Given the description of an element on the screen output the (x, y) to click on. 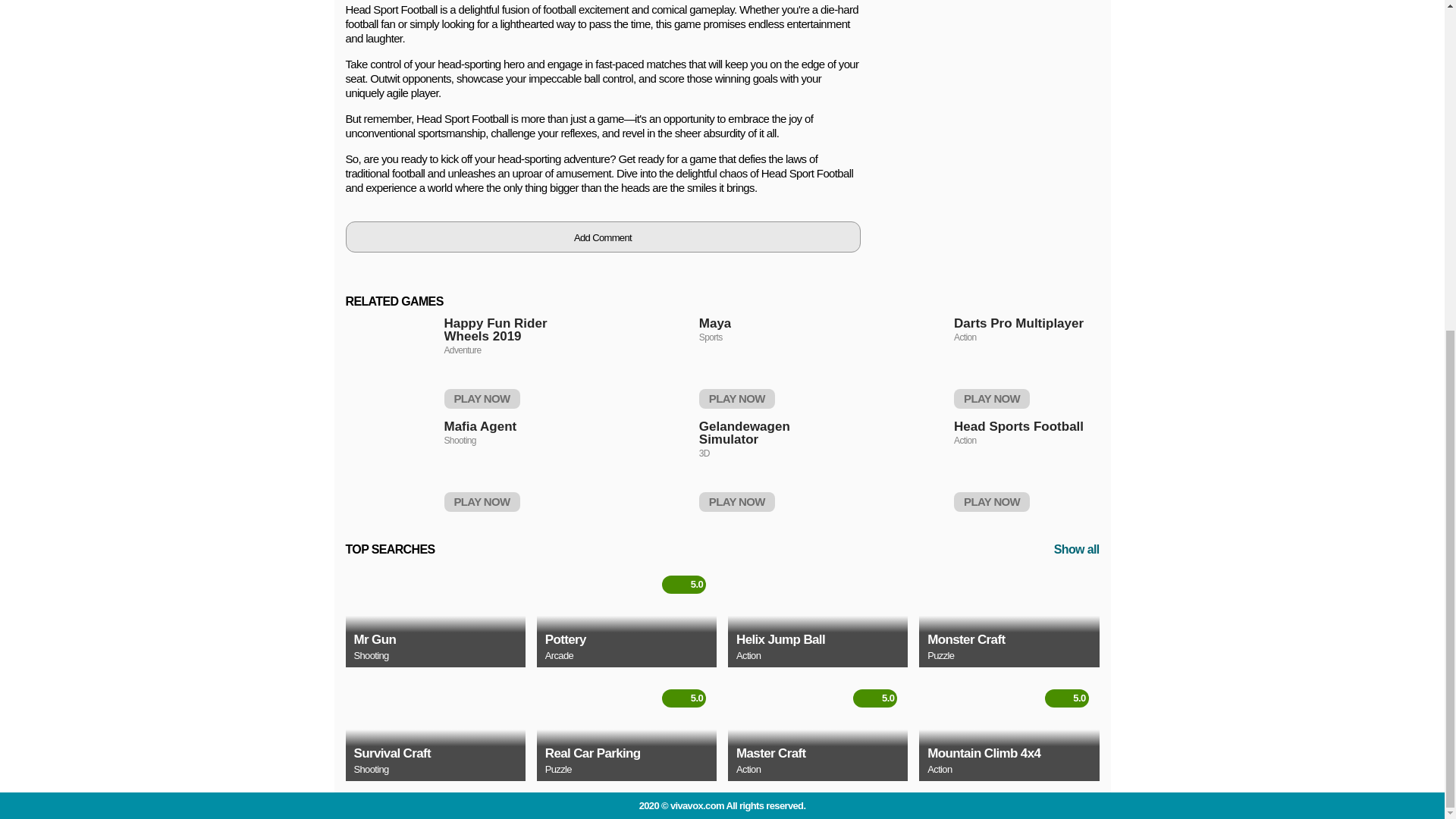
Show all (1076, 548)
